Given the description of an element on the screen output the (x, y) to click on. 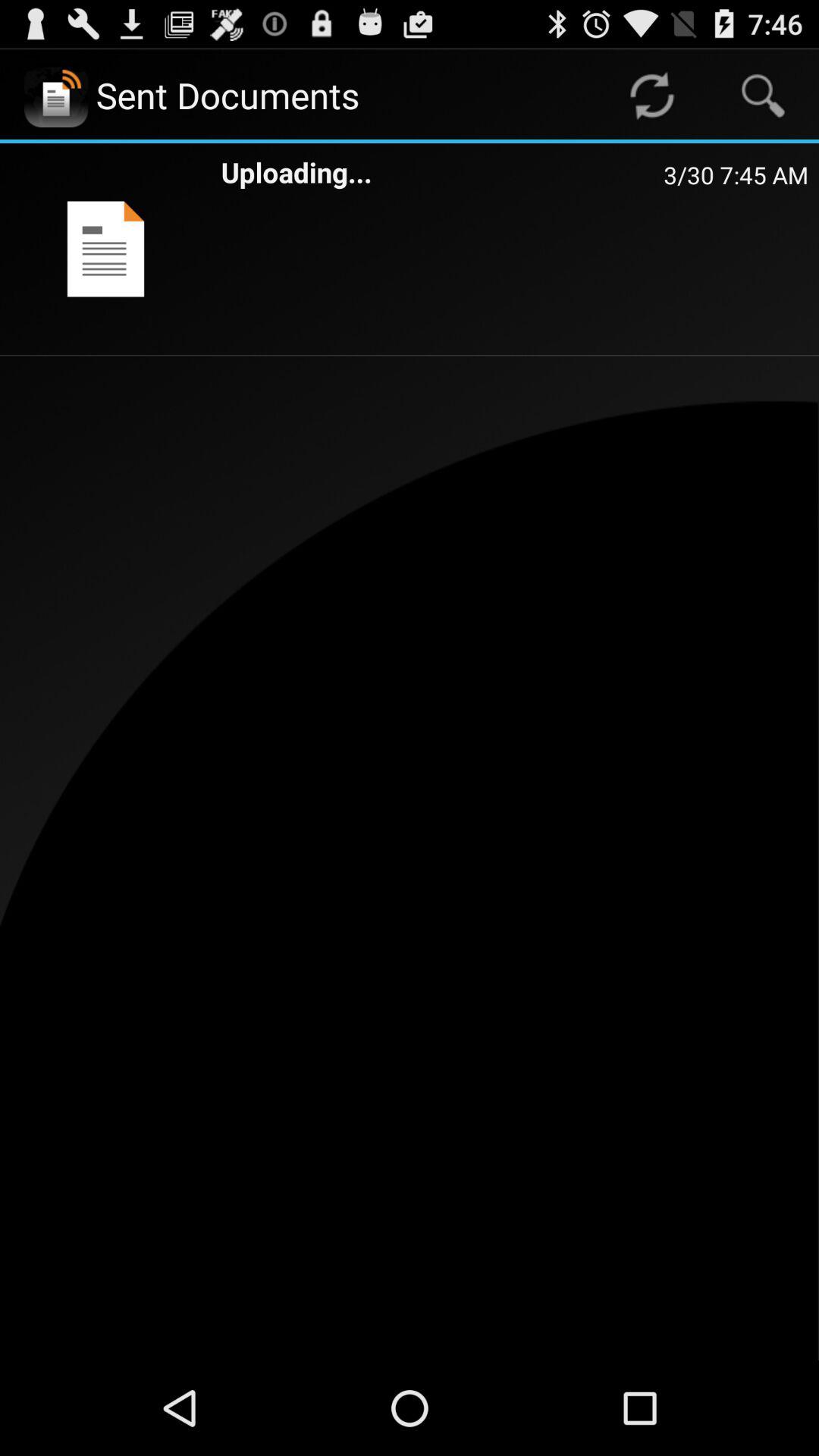
press item next to uploading... (735, 174)
